Given the description of an element on the screen output the (x, y) to click on. 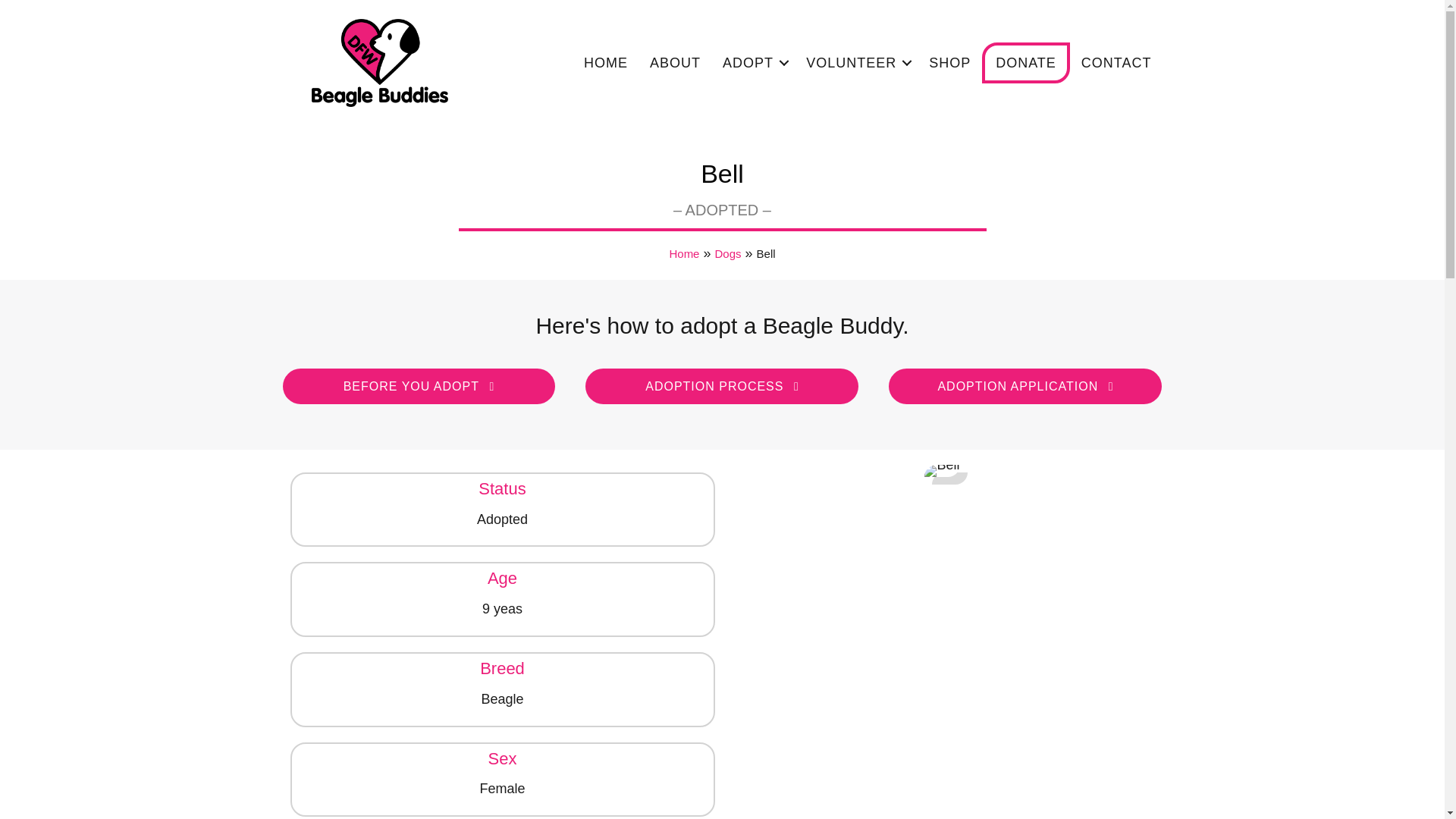
ADOPT (752, 62)
ABOUT (675, 62)
ADOPTION APPLICATION (1024, 386)
ADOPTION PROCESS (722, 386)
DONATE (1025, 62)
BEFORE YOU ADOPT (418, 386)
HOME (606, 62)
Home (683, 253)
Bell (941, 470)
SHOP (949, 62)
